Given the description of an element on the screen output the (x, y) to click on. 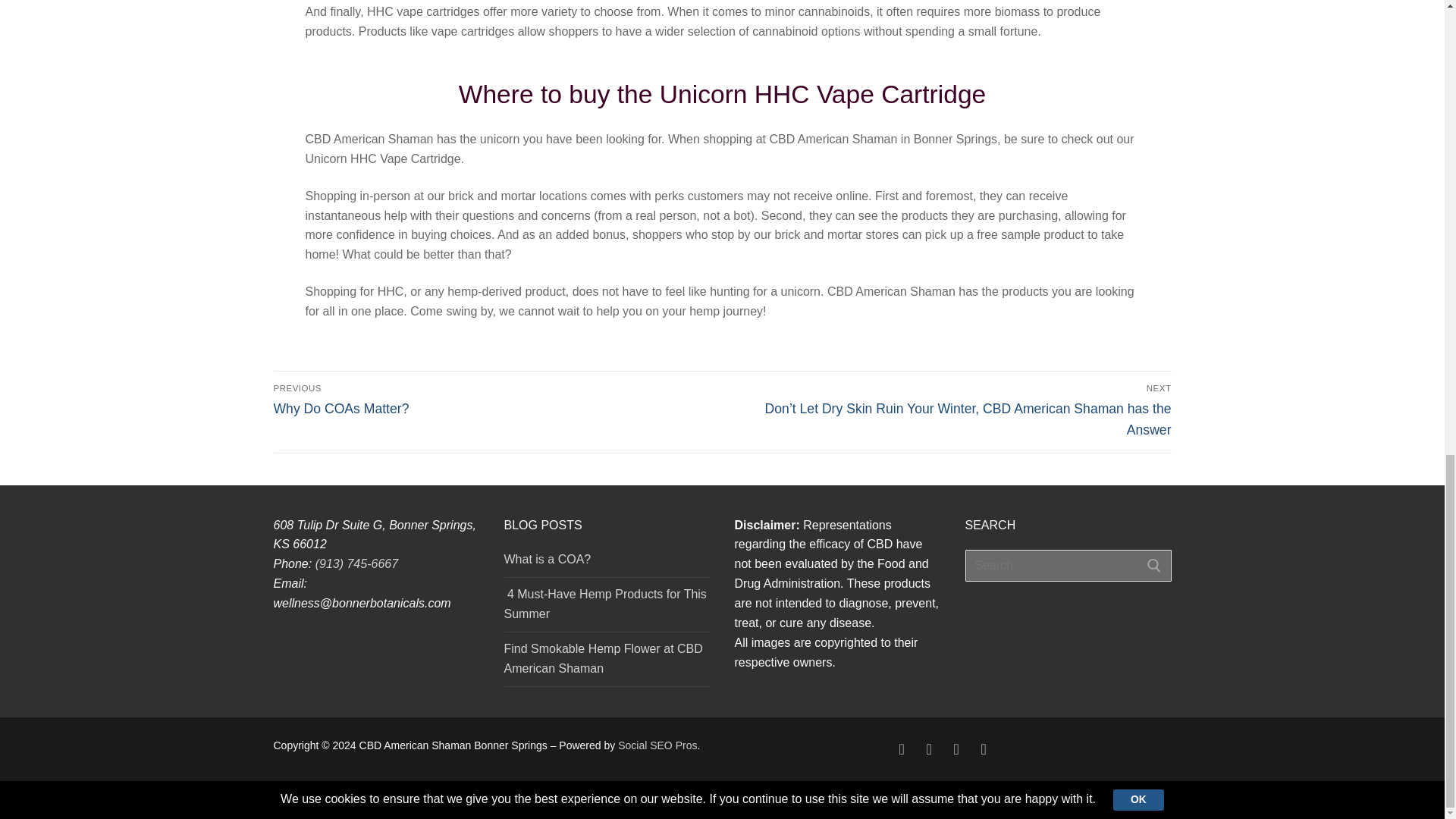
Search for: (1066, 565)
Yelp (983, 749)
Google (928, 749)
Instagram (956, 749)
Facebook (900, 749)
